Given the description of an element on the screen output the (x, y) to click on. 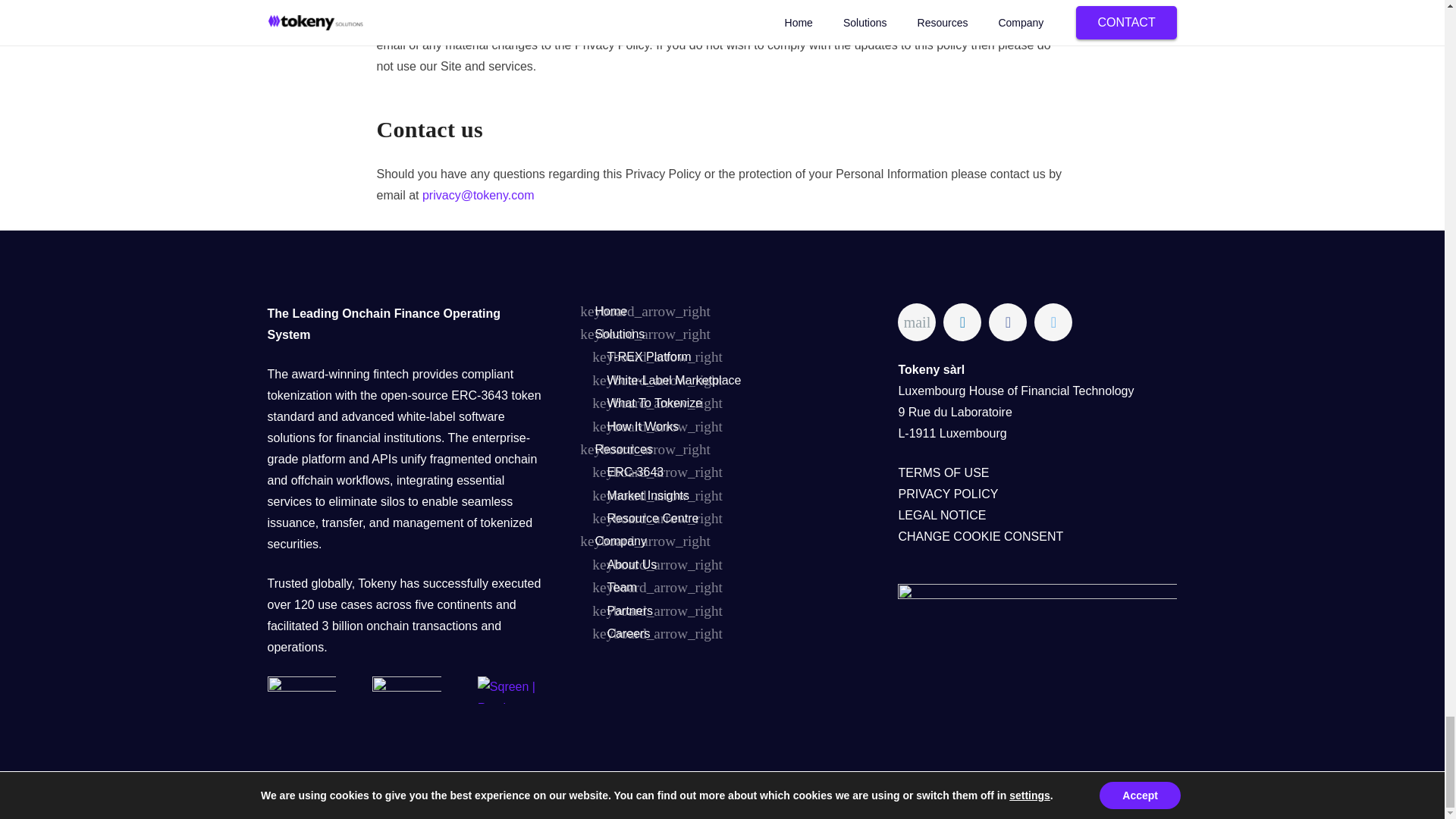
LinkedIn (962, 322)
Twitter (1052, 322)
Facebook (1007, 322)
Realtime application protection (512, 689)
Email (917, 322)
